Given the description of an element on the screen output the (x, y) to click on. 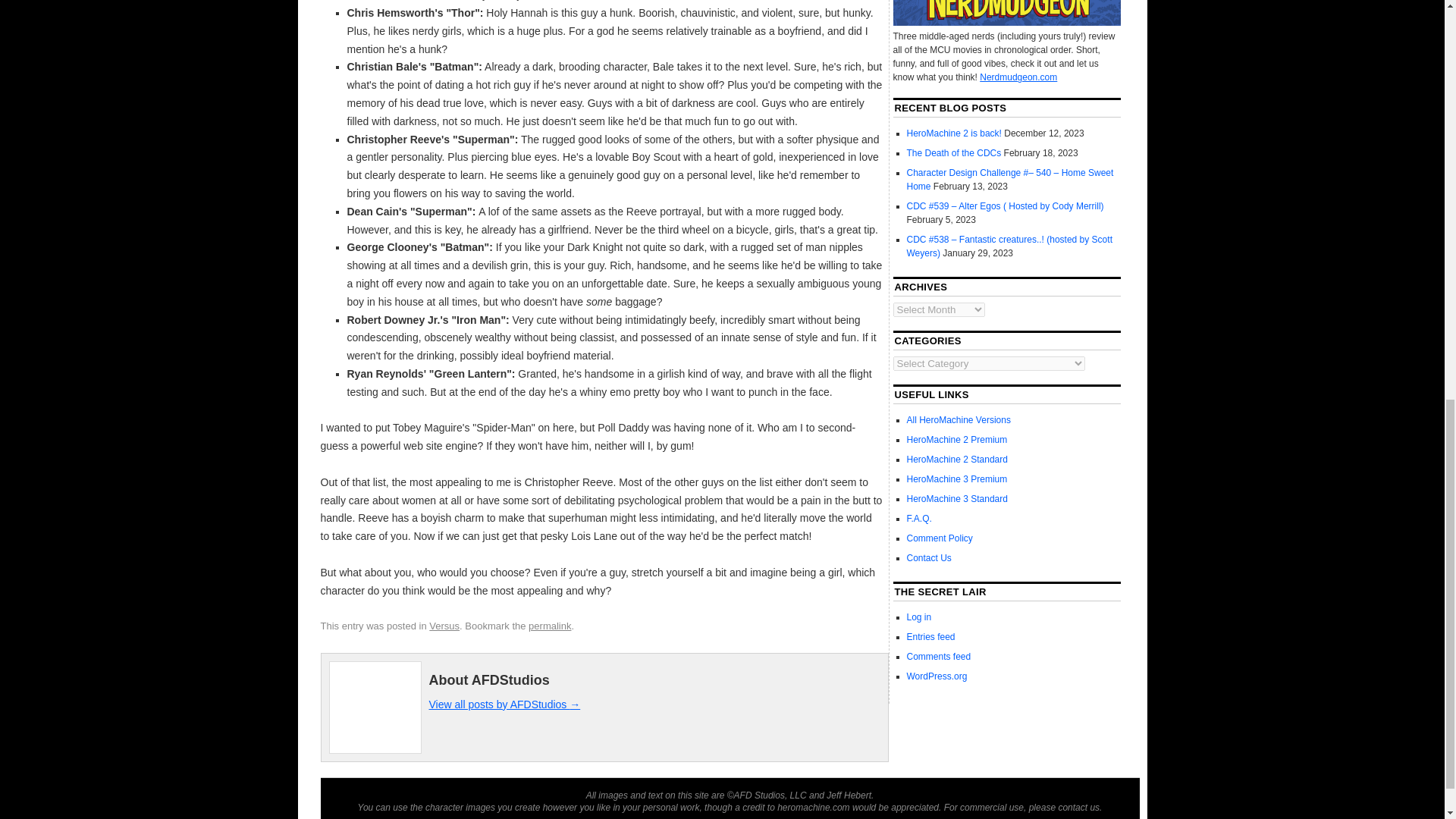
Permalink to Movie Boyfriends (549, 625)
HeroMachine 3 Premium (957, 479)
HeroMachine 3 Standard (957, 498)
HeroMachine 2 Premium (957, 439)
All HeroMachine Versions (958, 419)
Comment Policy (939, 538)
Nerdmudgeon.com (1018, 77)
Versus (444, 625)
HeroMachine 2 Standard (957, 459)
F.A.Q. (919, 518)
Contact Us (929, 557)
The Death of the CDCs (954, 153)
permalink (549, 625)
HeroMachine 2 is back! (954, 132)
